Given the description of an element on the screen output the (x, y) to click on. 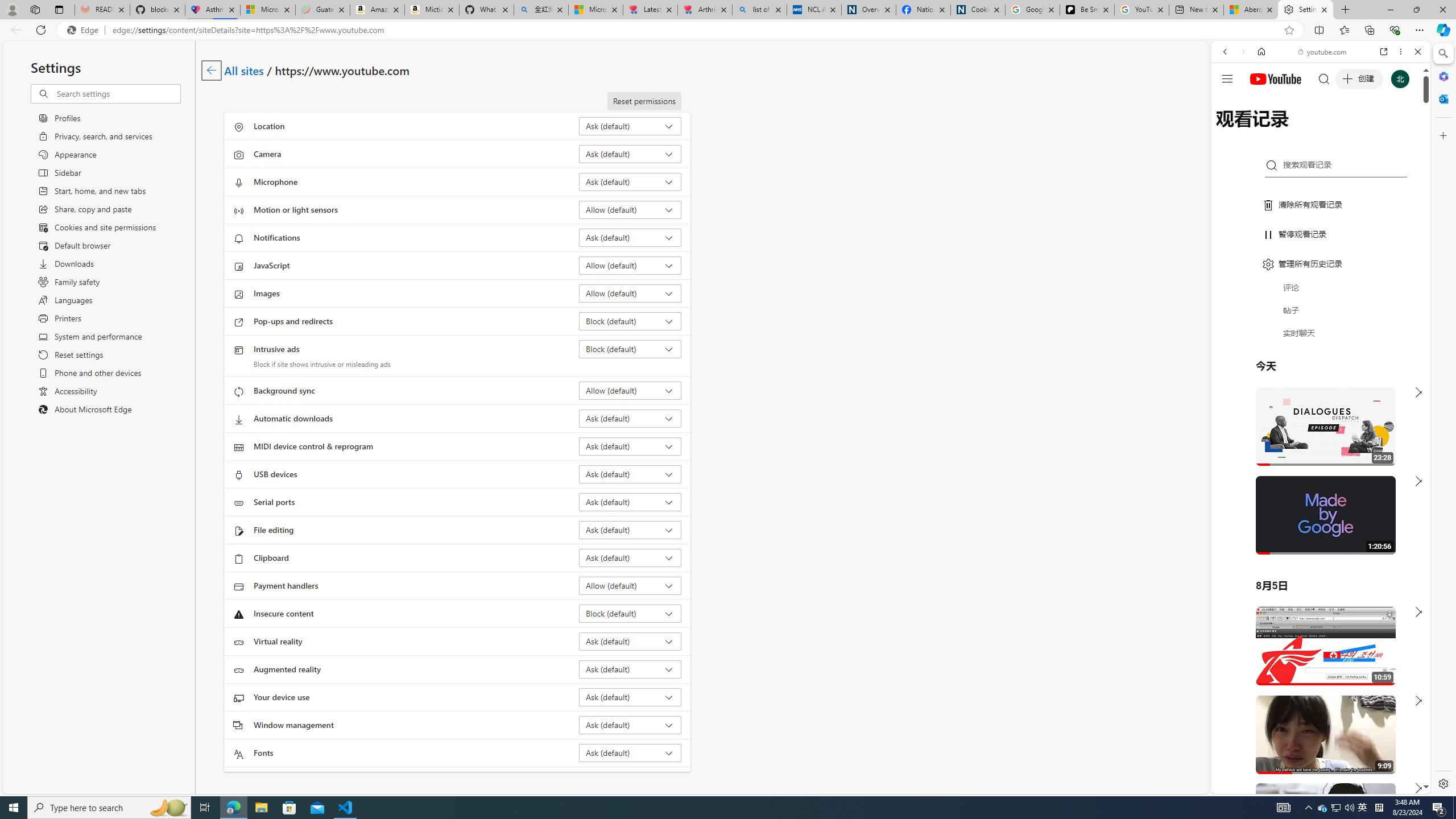
Pop-ups and redirects Block (default) (630, 321)
Virtual reality Ask (default) (630, 641)
Camera Ask (default) (630, 153)
USB devices Ask (default) (630, 474)
Background sync Allow (default) (630, 390)
Music (1320, 309)
Augmented reality Ask (default) (630, 669)
